Given the description of an element on the screen output the (x, y) to click on. 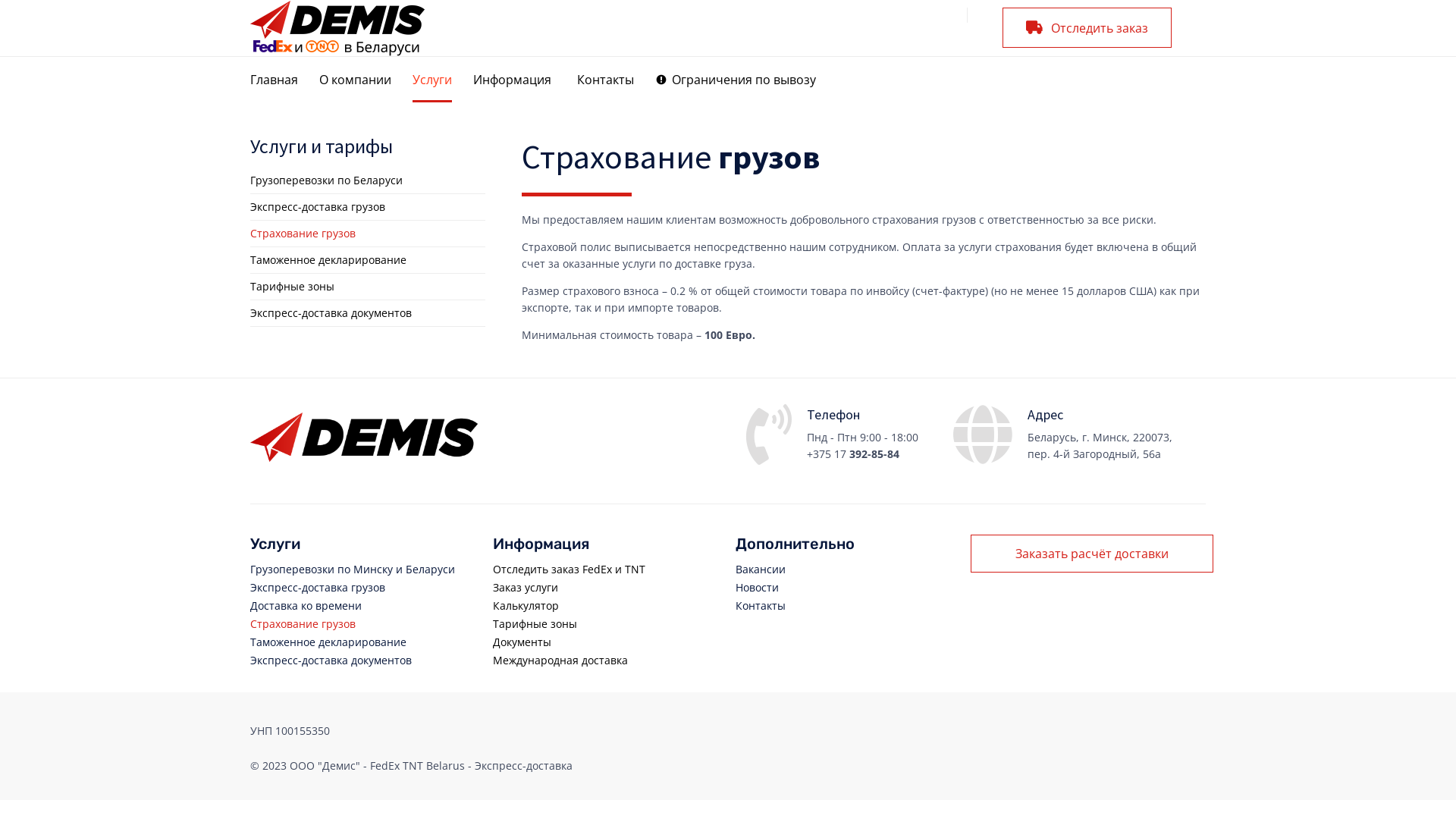
Demis_100 Element type: hover (363, 436)
Skip to content Element type: text (727, 56)
Demis_100 Element type: hover (363, 457)
